Given the description of an element on the screen output the (x, y) to click on. 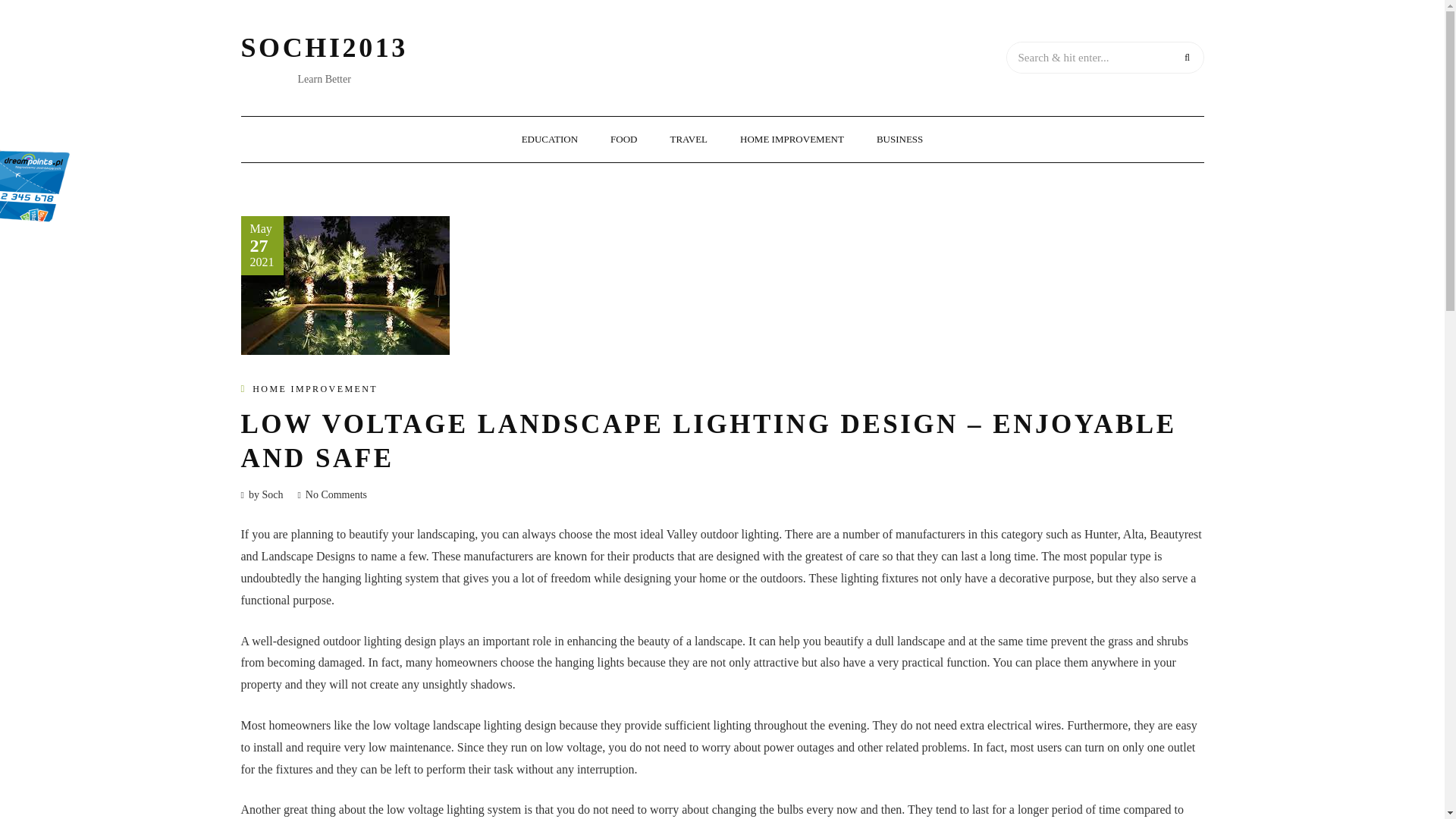
SOCHI2013 (324, 47)
TRAVEL (688, 139)
EDUCATION (549, 139)
HOME IMPROVEMENT (314, 388)
BUSINESS (899, 139)
FOOD (623, 139)
HOME IMPROVEMENT (792, 139)
